Given the description of an element on the screen output the (x, y) to click on. 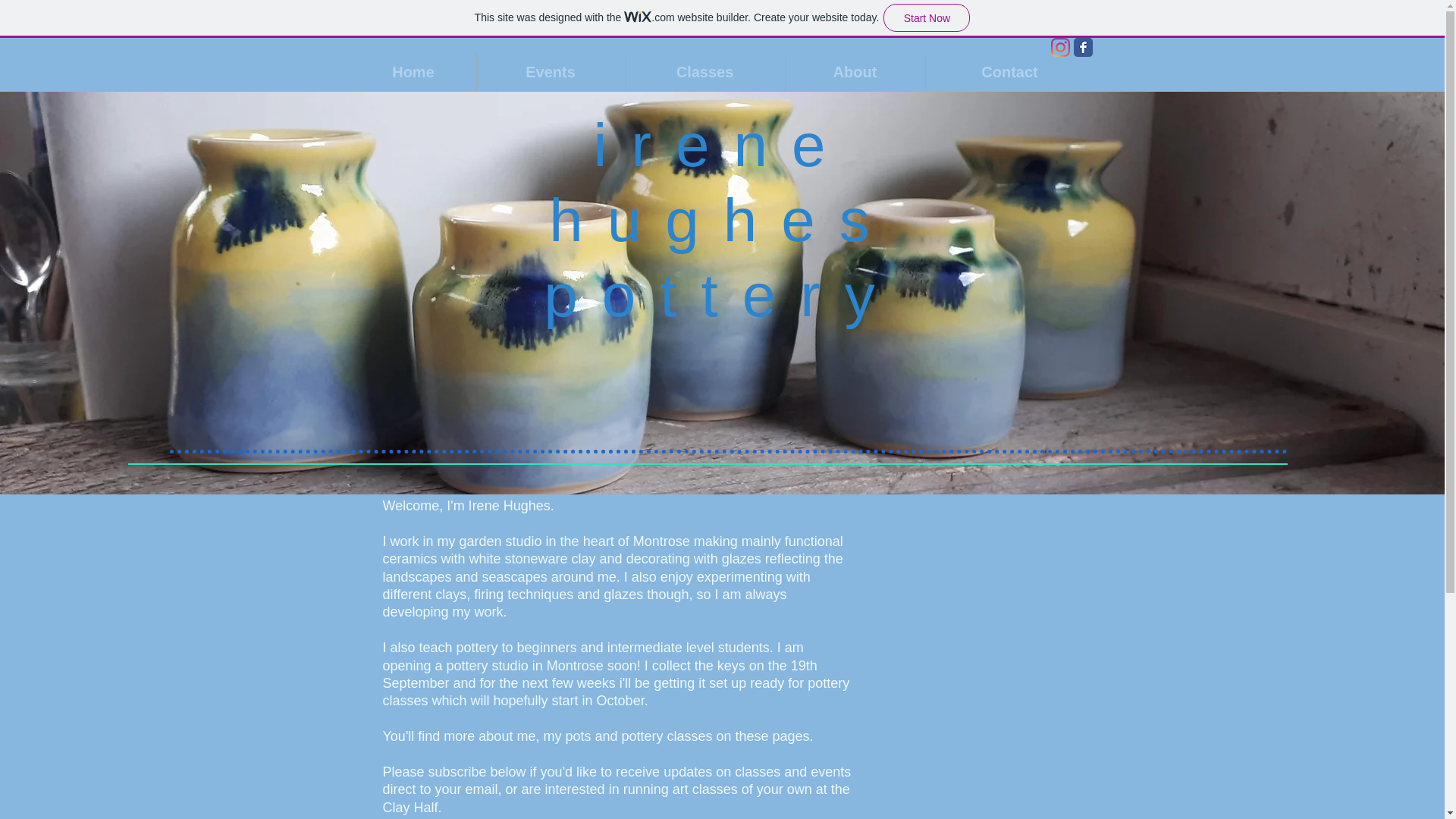
About (855, 71)
Home (413, 71)
Contact (1008, 71)
Classes (704, 71)
Events (550, 71)
